Given the description of an element on the screen output the (x, y) to click on. 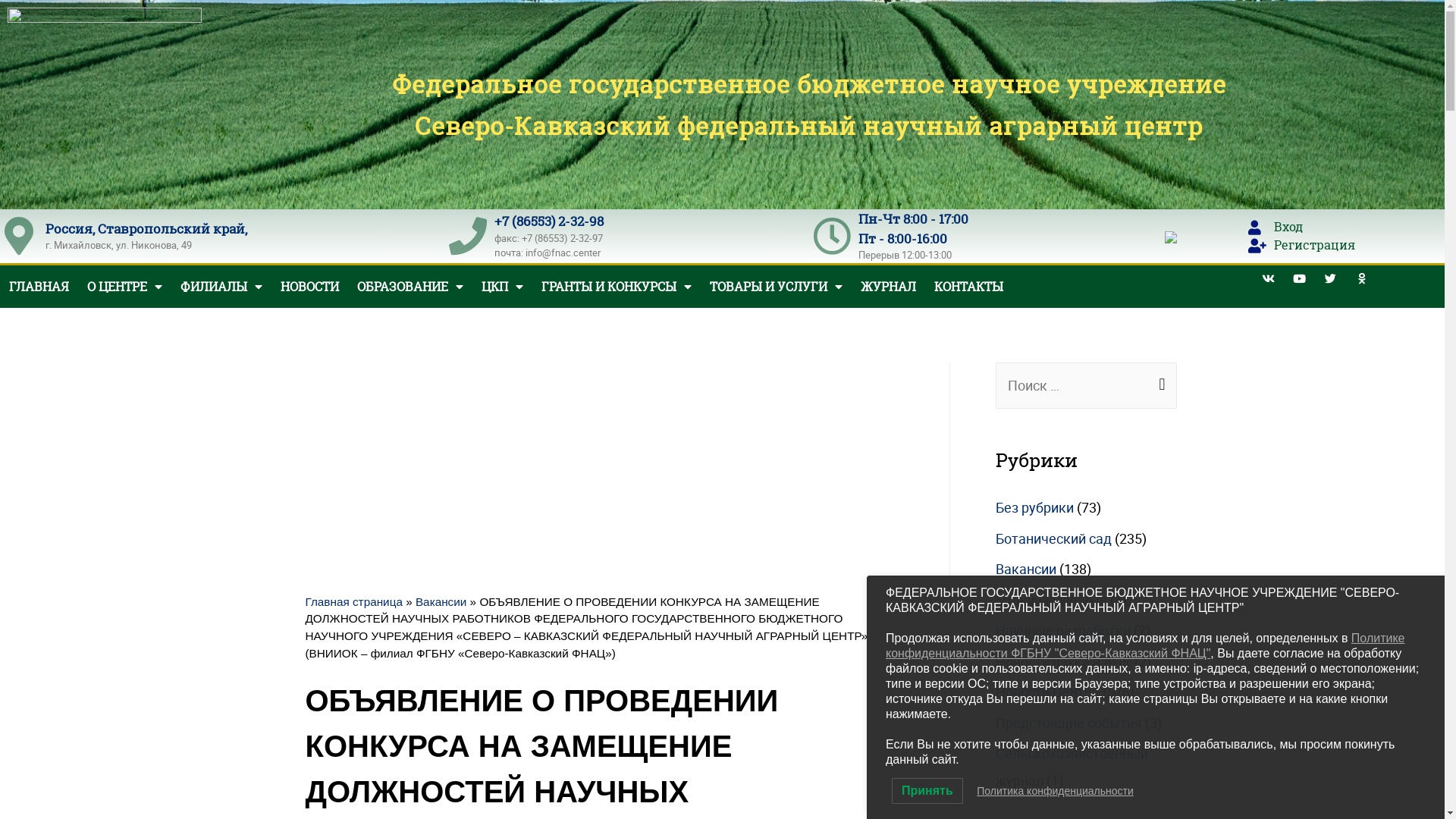
+7 (86553) 2-32-9 Element type: text (545, 220)
